Given the description of an element on the screen output the (x, y) to click on. 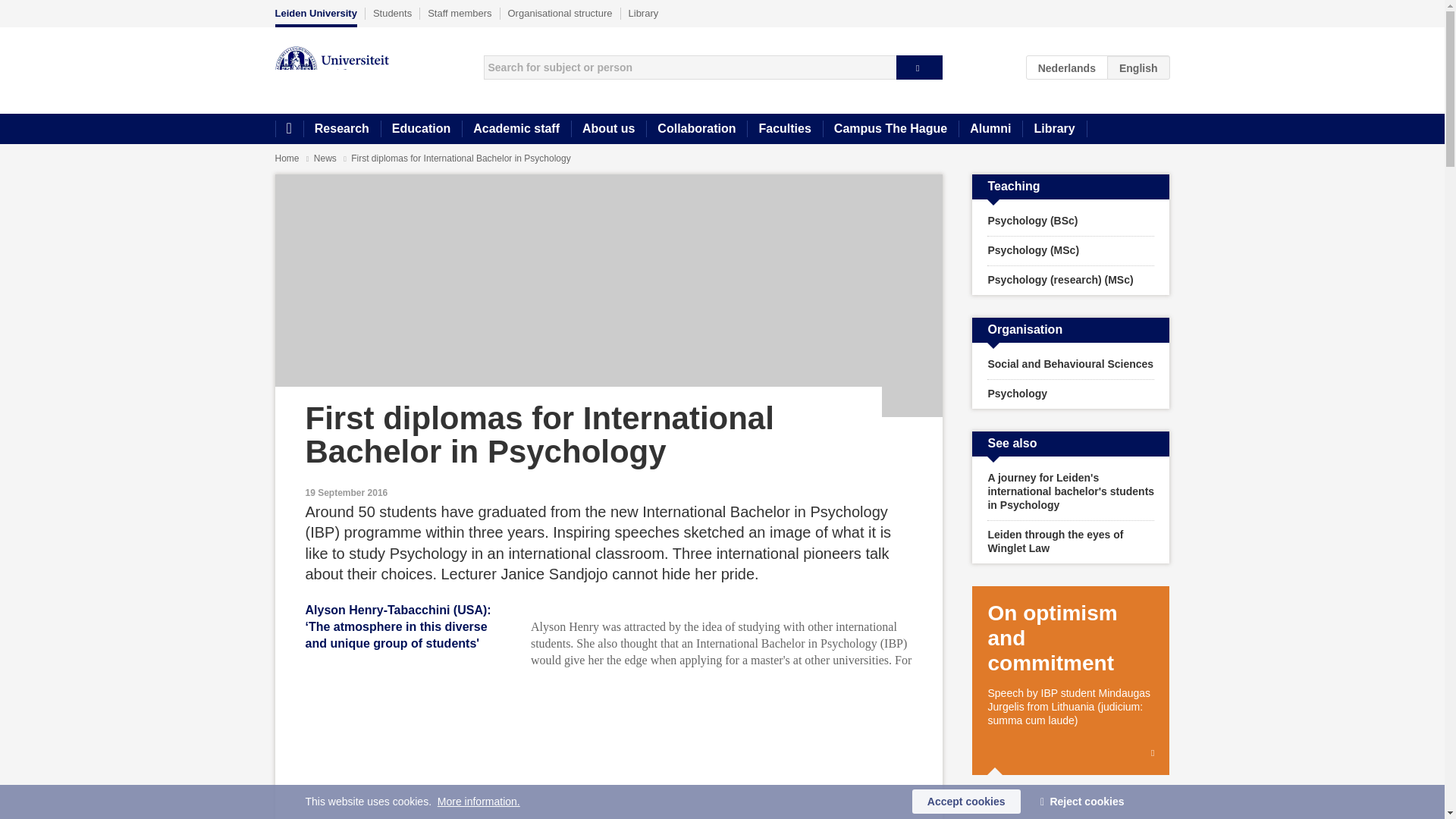
Staff members (460, 13)
Organisational structure (560, 13)
Home (288, 128)
Faculties (784, 128)
Alumni (990, 128)
Campus The Hague (890, 128)
Academic staff (515, 128)
News (326, 158)
Leiden University (315, 17)
NL (1067, 67)
